Given the description of an element on the screen output the (x, y) to click on. 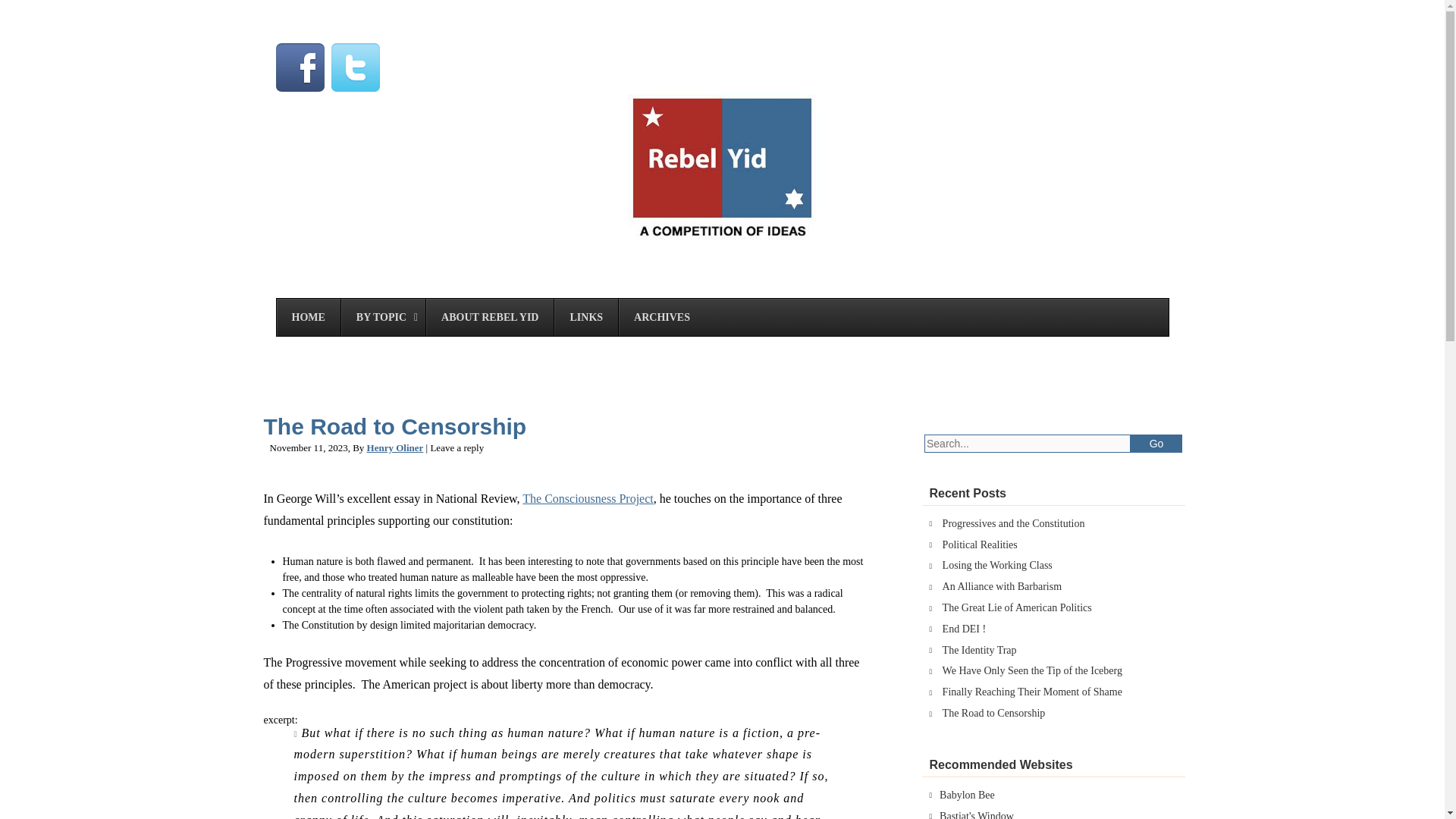
LINKS (585, 316)
HOME (307, 316)
ABOUT REBEL YID (489, 316)
ARCHIVES (660, 316)
Posts by Henry Oliner (394, 447)
BY TOPIC (382, 316)
Rebel Yid (722, 317)
Go (721, 241)
Satire (1156, 443)
